Given the description of an element on the screen output the (x, y) to click on. 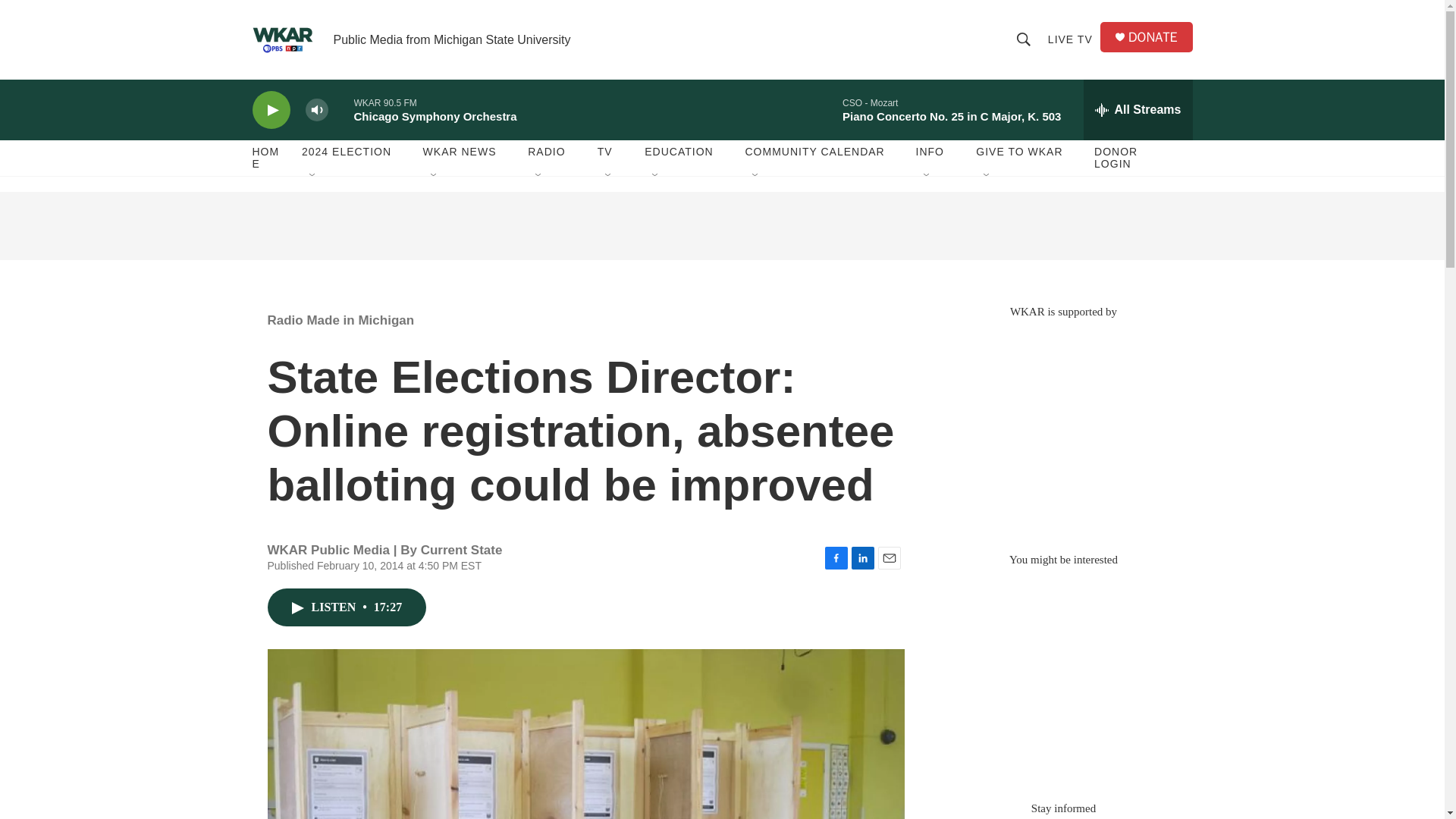
3rd party ad content (721, 225)
3rd party ad content (1062, 677)
3rd party ad content (1062, 428)
